Given the description of an element on the screen output the (x, y) to click on. 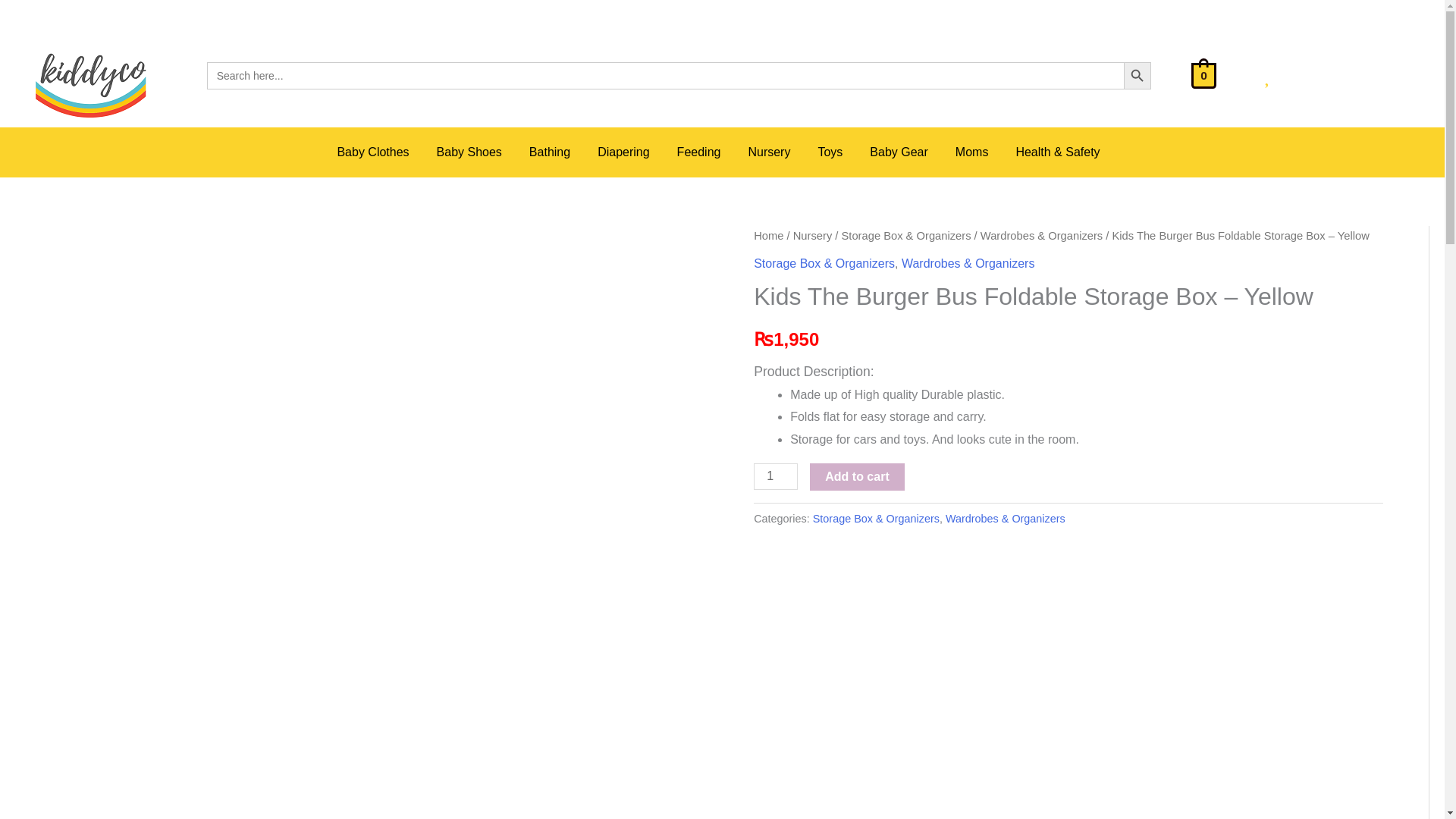
Bathing (553, 152)
Search Button (1137, 75)
Baby Clothes (376, 152)
0 (1203, 74)
Baby Shoes (472, 152)
Qty (775, 476)
1 (775, 476)
View your shopping cart (1203, 74)
